Given the description of an element on the screen output the (x, y) to click on. 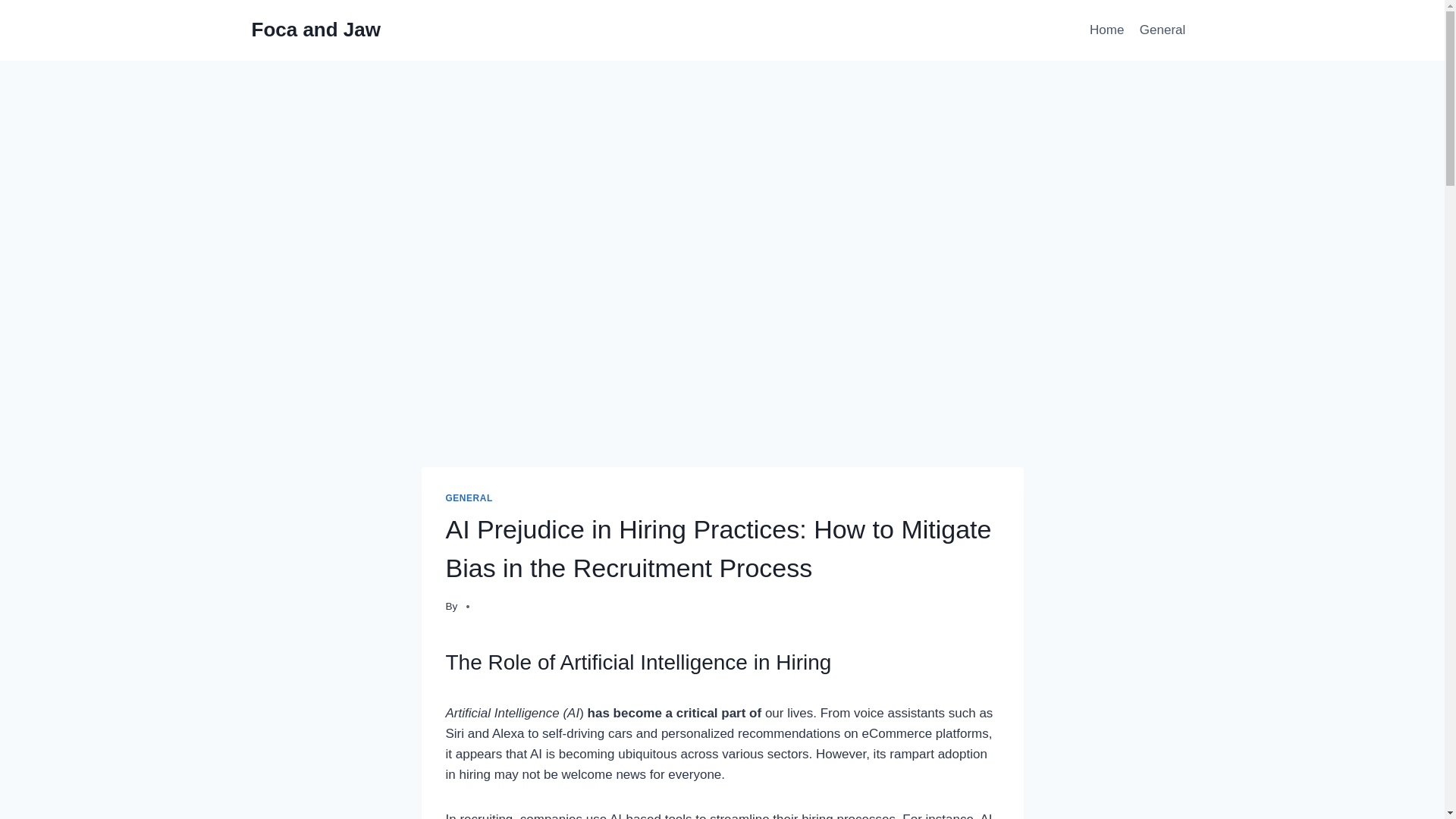
GENERAL (469, 498)
Foca and Jaw (316, 29)
General (1162, 30)
Home (1106, 30)
